Given the description of an element on the screen output the (x, y) to click on. 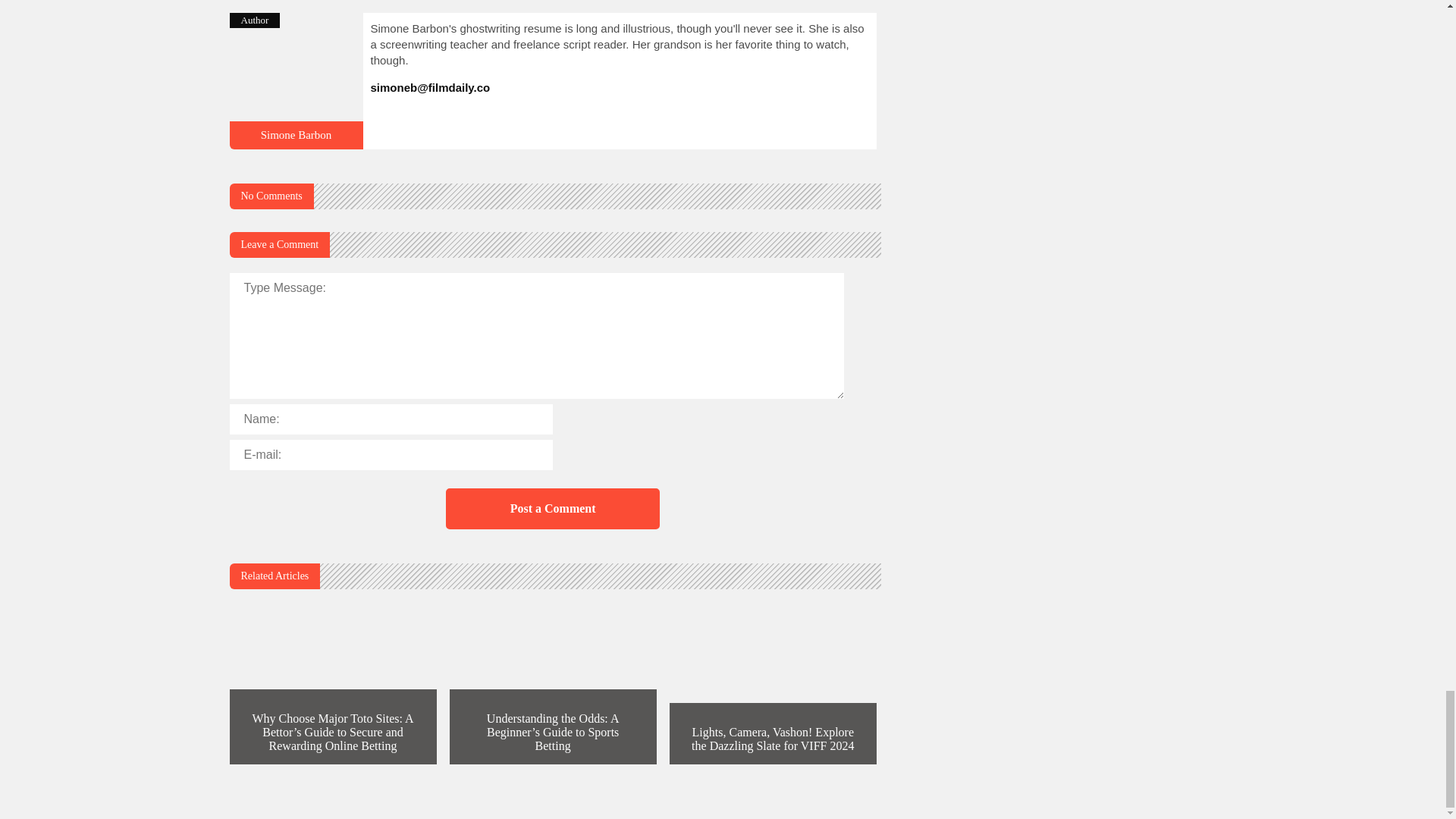
Why sports documentaries are taking over streaming services (295, 134)
Why sports documentaries are taking over streaming services (295, 142)
Post a Comment (552, 508)
